Given the description of an element on the screen output the (x, y) to click on. 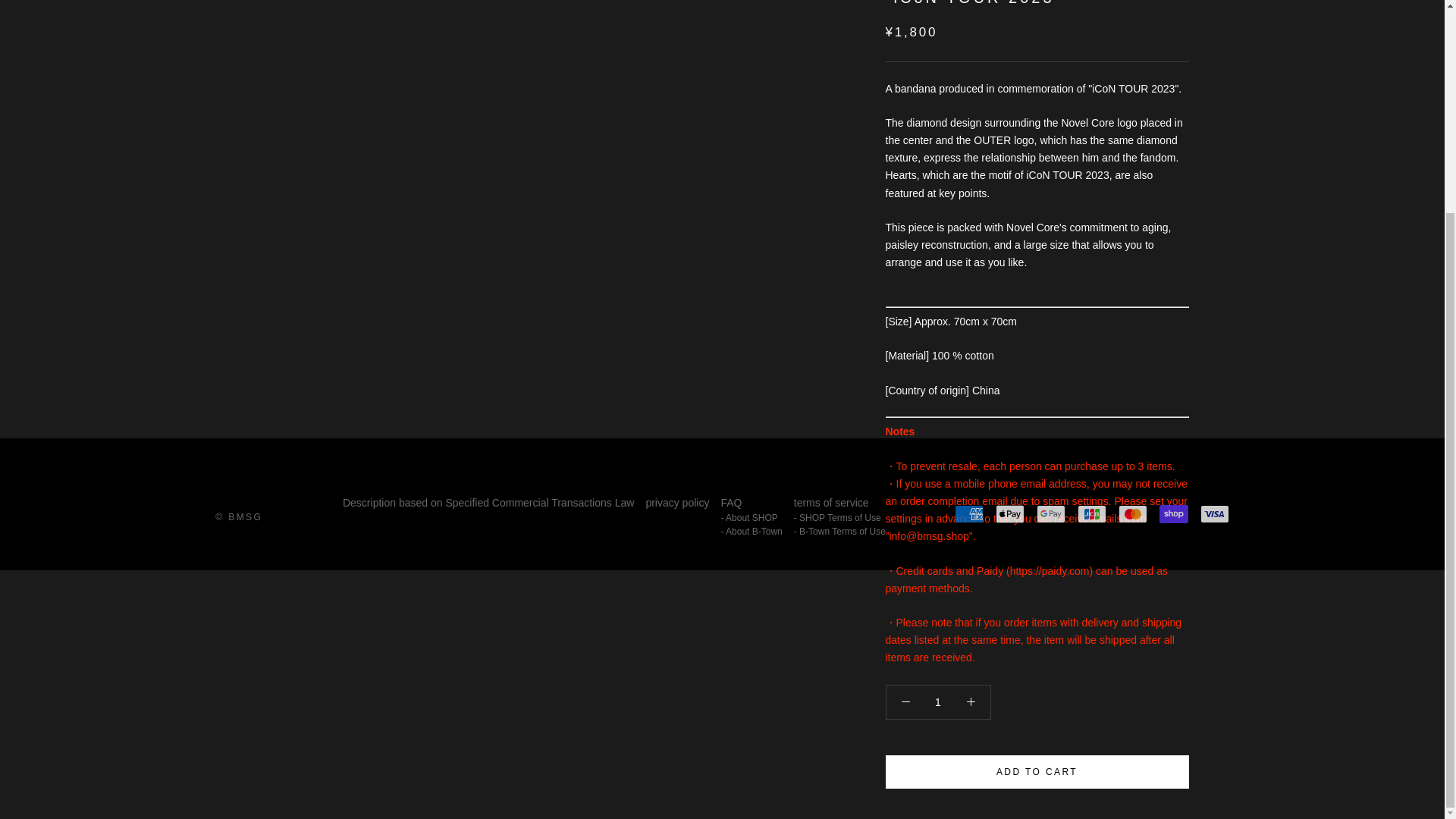
1 (938, 702)
Description based on Specified Commercial Transactions Law (487, 503)
- SHOP Terms of Use (839, 517)
Shop Pay (1173, 514)
- About B-Town (750, 531)
Mastercard (1132, 514)
Google Pay (1050, 514)
privacy policy (677, 503)
- About SHOP (750, 517)
JCB (1091, 514)
